Given the description of an element on the screen output the (x, y) to click on. 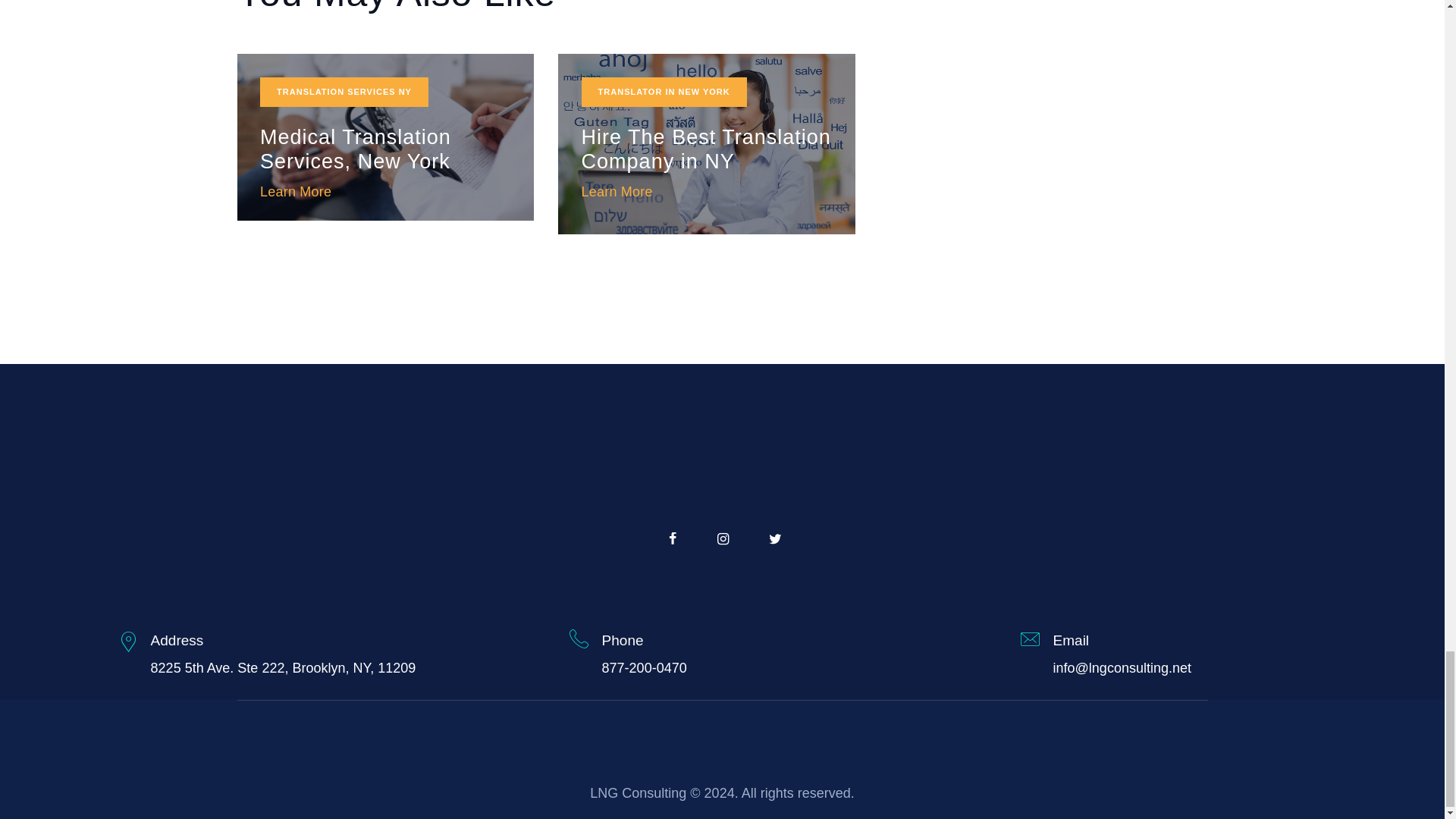
Learn More (295, 191)
TRANSLATION SERVICES NY (344, 91)
Medical Translation Services, New York (385, 149)
View all posts in Translator in New York (663, 91)
TRANSLATOR IN NEW YORK (663, 91)
View all posts in Translation Services NY (344, 91)
